Given the description of an element on the screen output the (x, y) to click on. 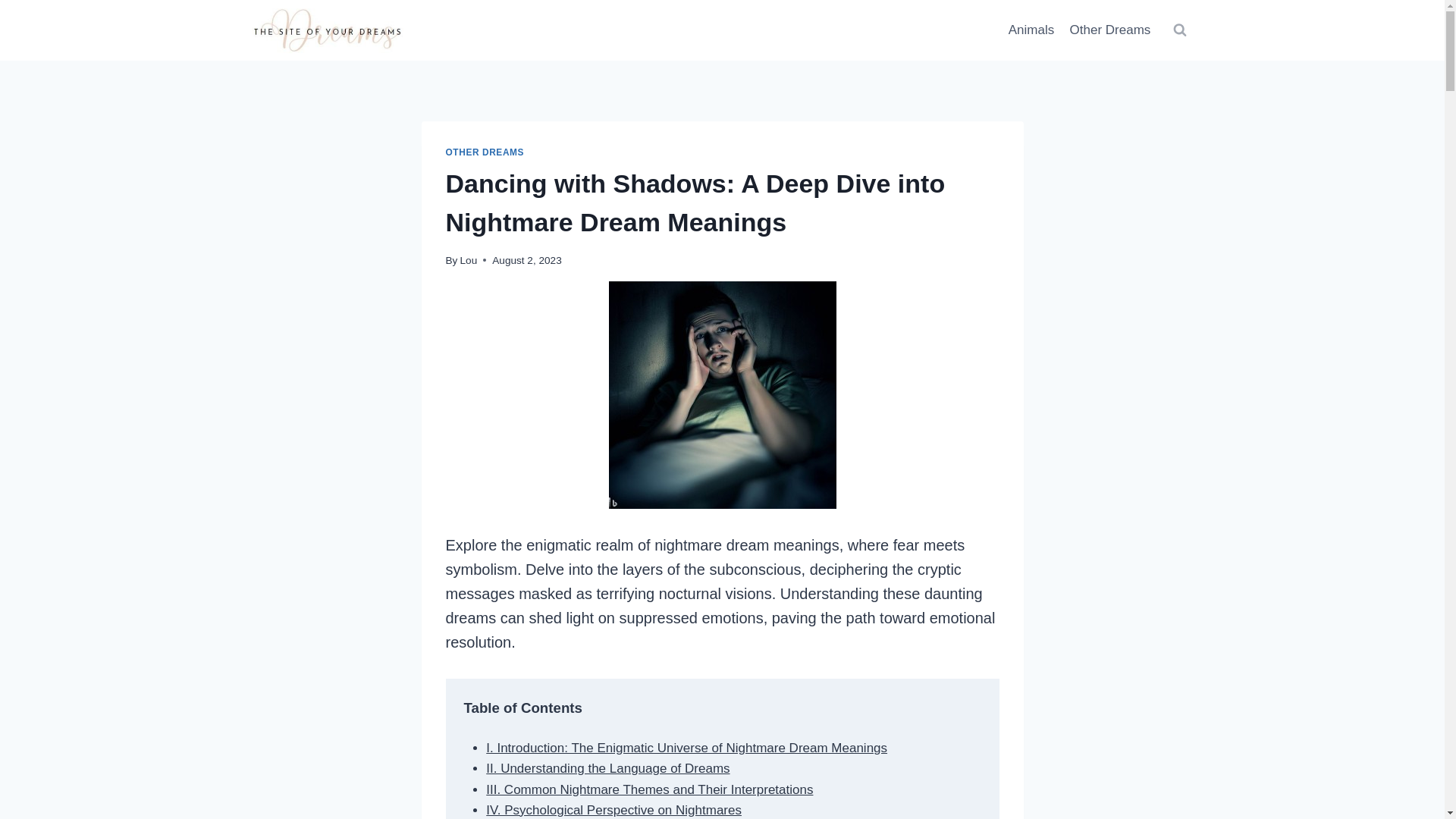
II. Understanding the Language of Dreams (607, 768)
Other Dreams (1109, 30)
Animals (1031, 30)
III. Common Nightmare Themes and Their Interpretations (649, 789)
OTHER DREAMS (484, 152)
Lou (468, 260)
IV. Psychological Perspective on Nightmares (613, 810)
